Given the description of an element on the screen output the (x, y) to click on. 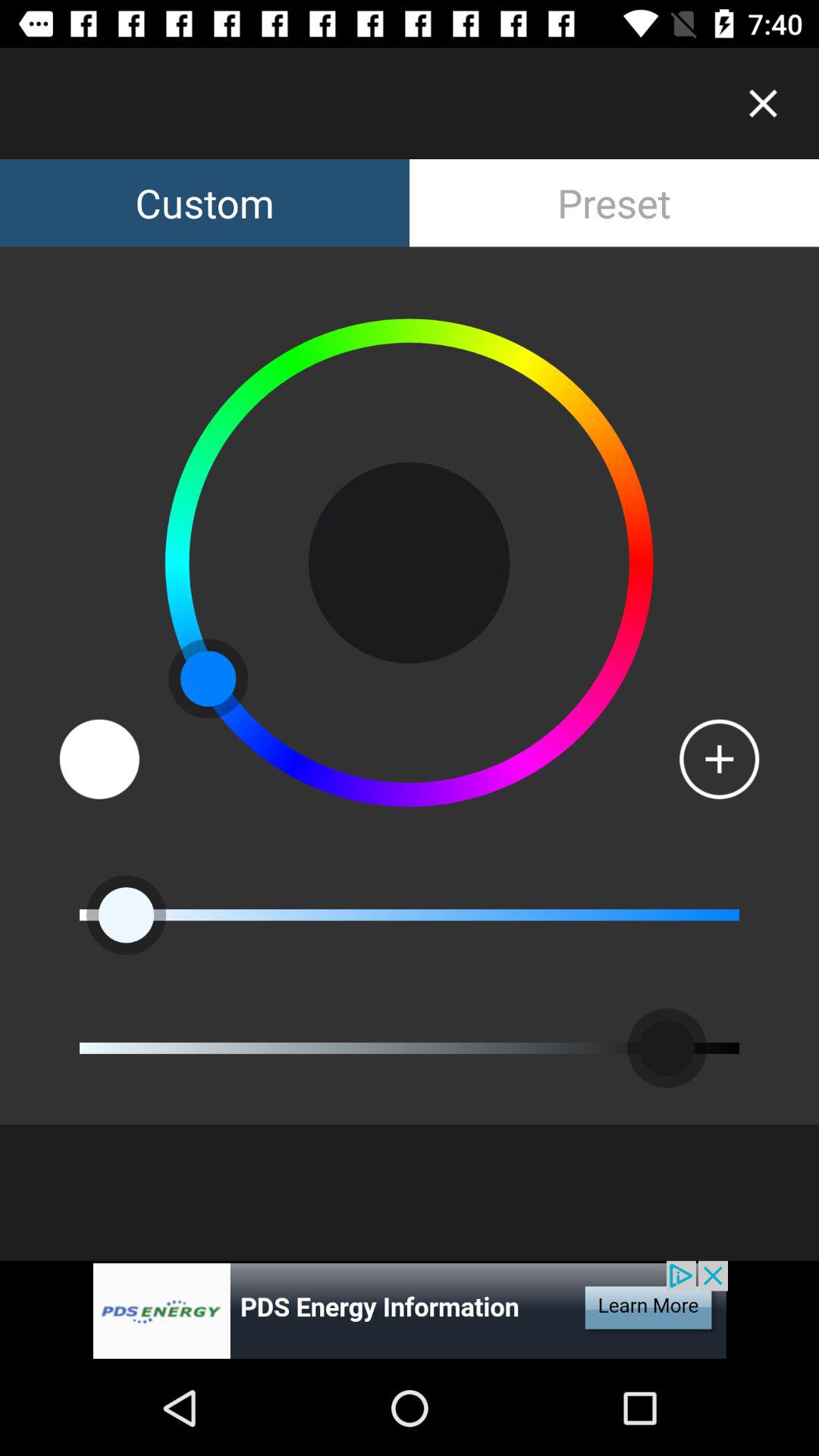
go to learn more (409, 1310)
